Given the description of an element on the screen output the (x, y) to click on. 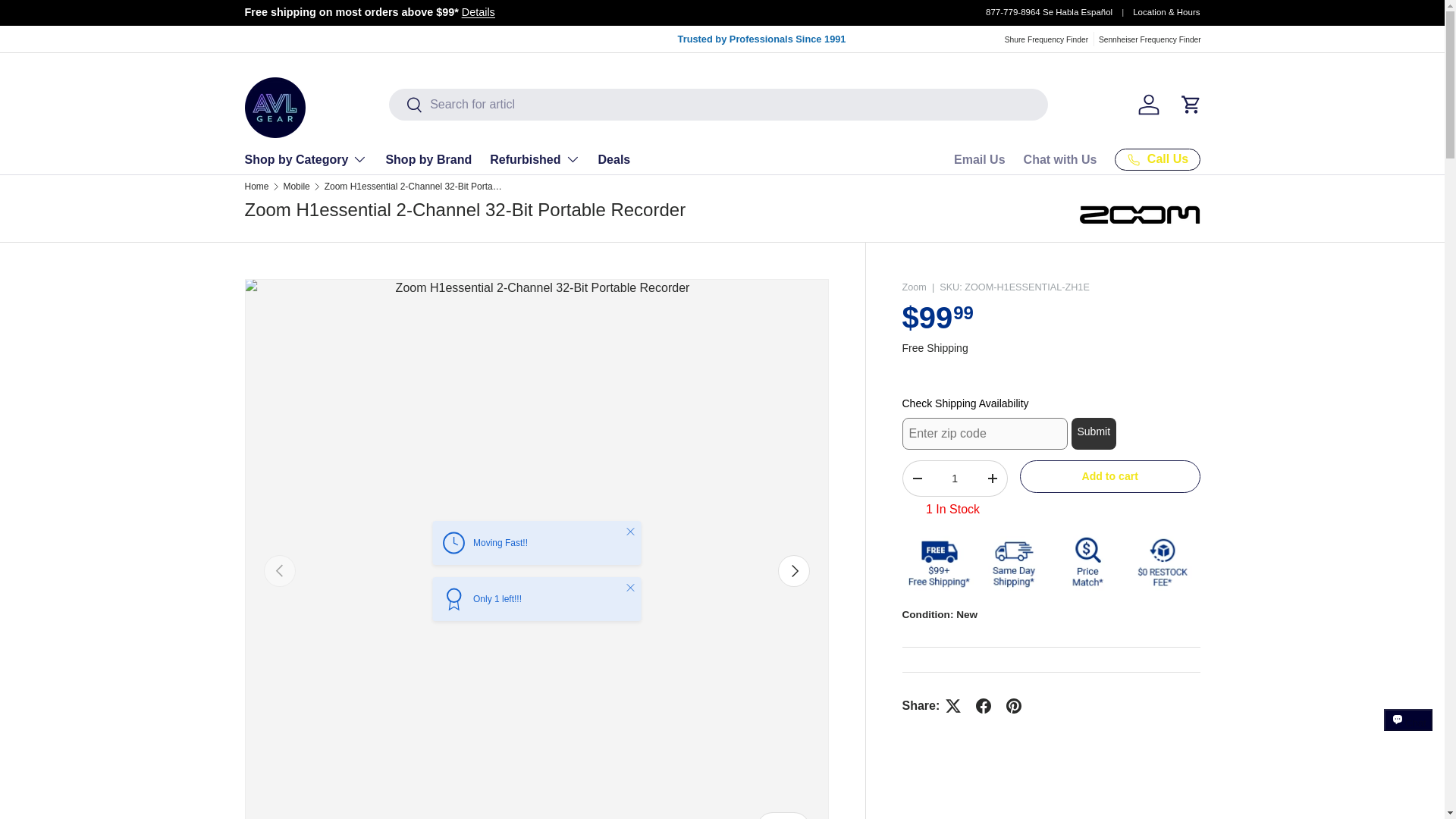
Shopify online store chat (1408, 733)
Shop by Category (305, 159)
Pin on Pinterest (1013, 706)
Tweet on X (952, 706)
Sennheiser Frequency Finder (1150, 40)
Log in (1147, 104)
1 (953, 478)
Cart (1190, 104)
Details (478, 11)
Search (405, 105)
